Given the description of an element on the screen output the (x, y) to click on. 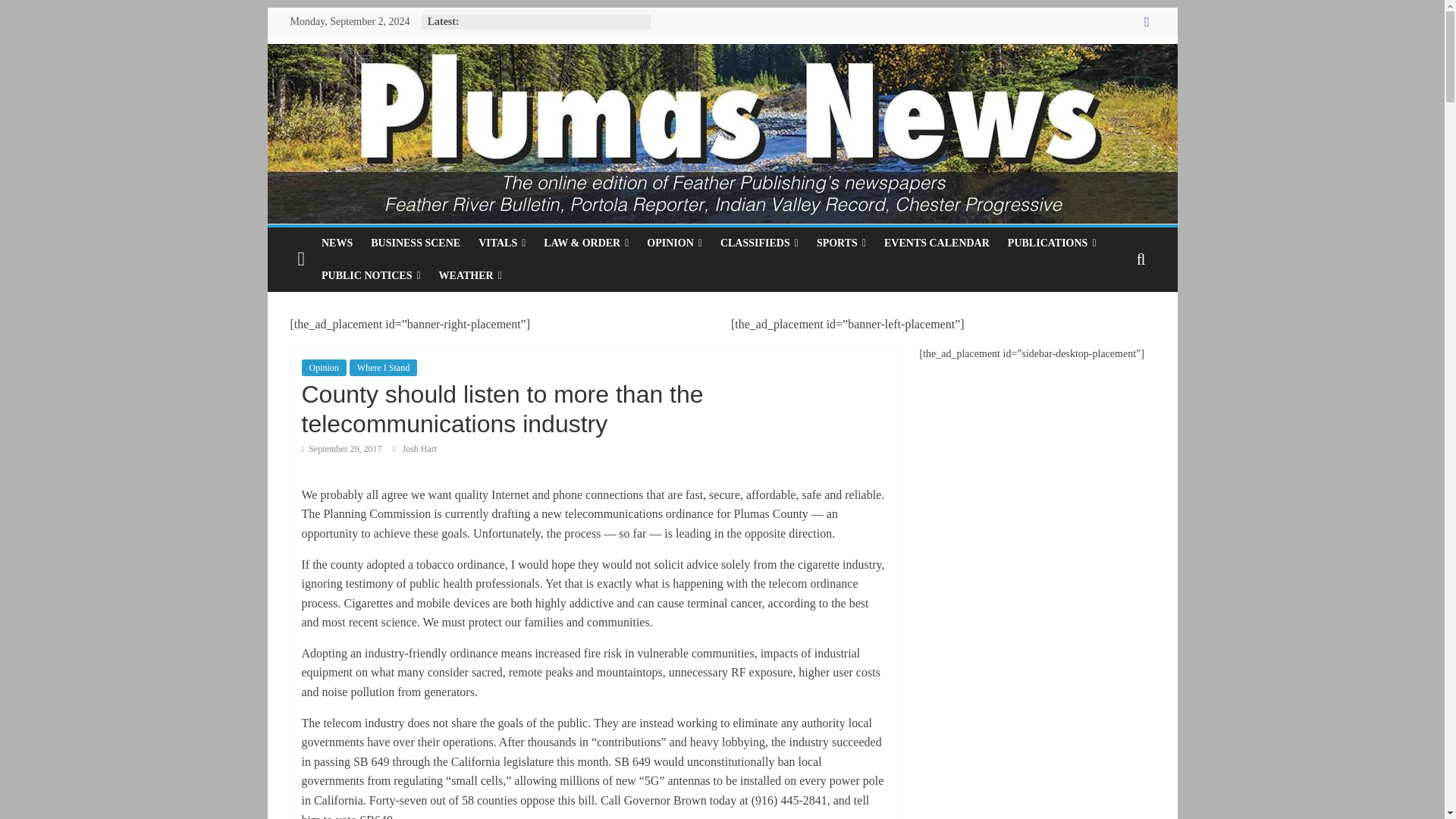
VITALS (501, 243)
CLASSIFIEDS (759, 243)
BUSINESS SCENE (414, 243)
OPINION (674, 243)
PUBLICATIONS (1051, 243)
NEWS (337, 243)
8:00 am (341, 448)
EVENTS CALENDAR (936, 243)
SPORTS (841, 243)
Josh Hart (420, 448)
